Given the description of an element on the screen output the (x, y) to click on. 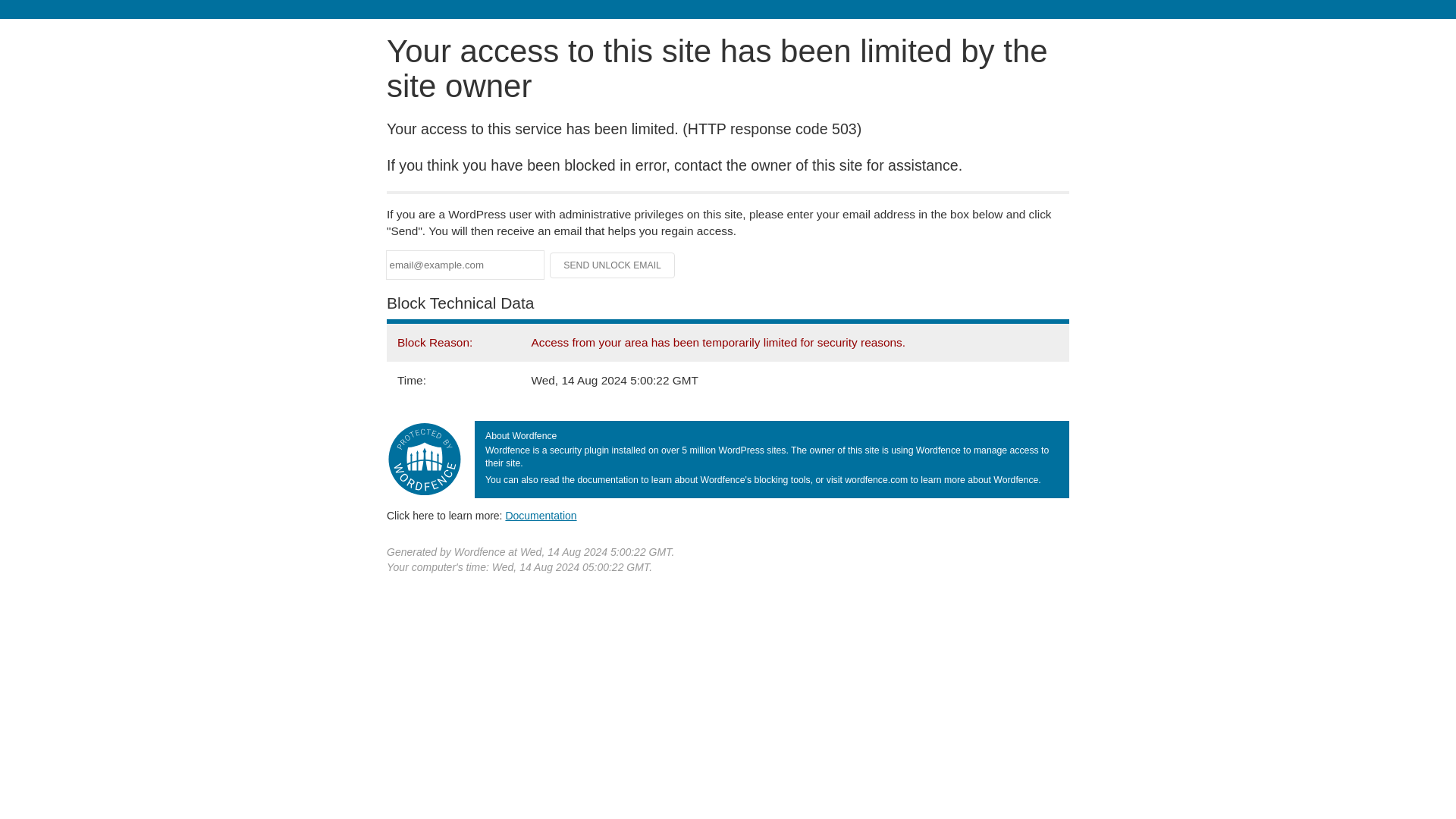
Send Unlock Email (612, 265)
Documentation (540, 515)
Send Unlock Email (612, 265)
